Given the description of an element on the screen output the (x, y) to click on. 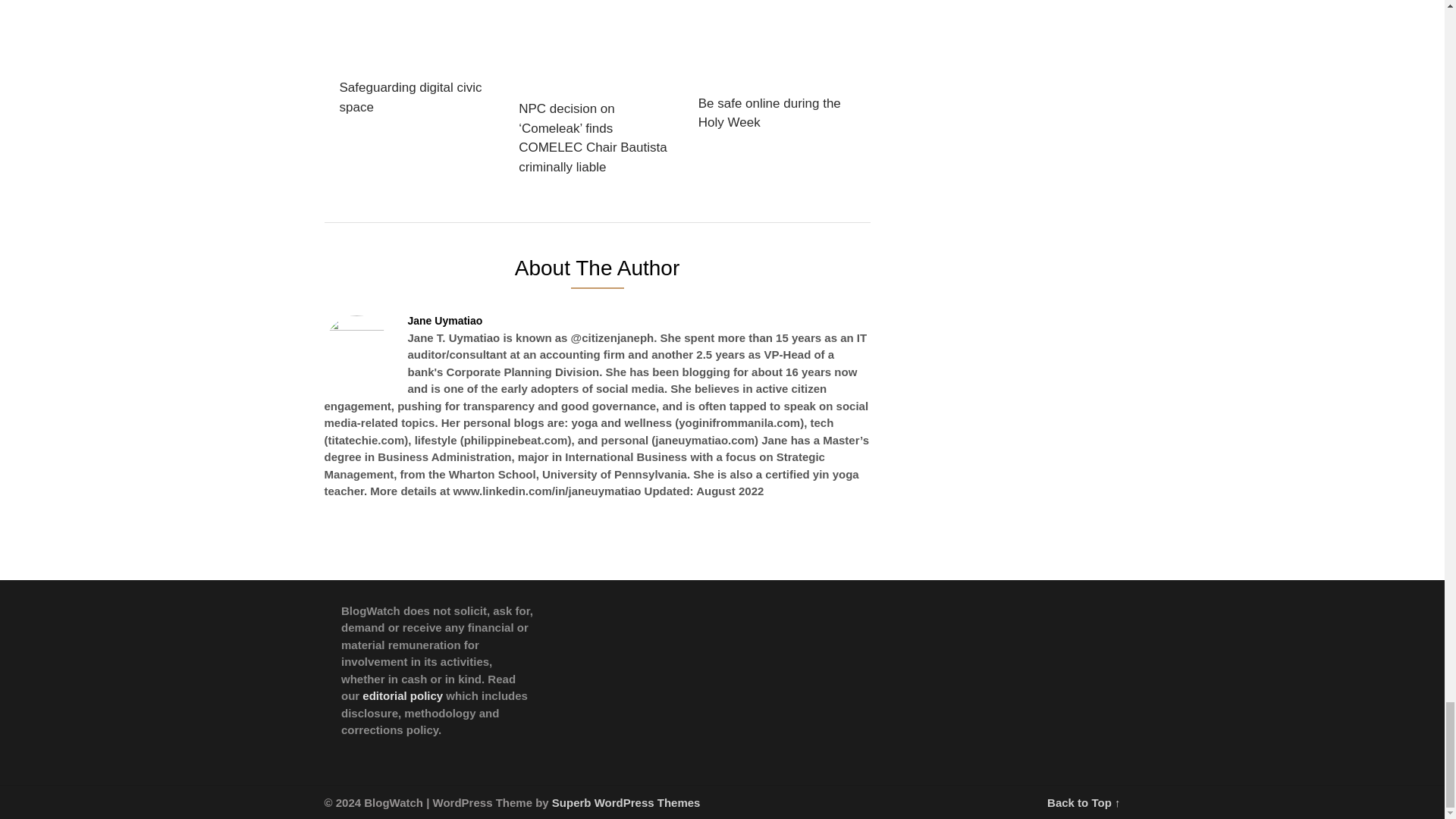
Be safe online during the Holy Week (774, 70)
Safeguarding digital civic space (415, 62)
Be safe online during the Holy Week (774, 70)
Safeguarding digital civic space (415, 62)
